Given the description of an element on the screen output the (x, y) to click on. 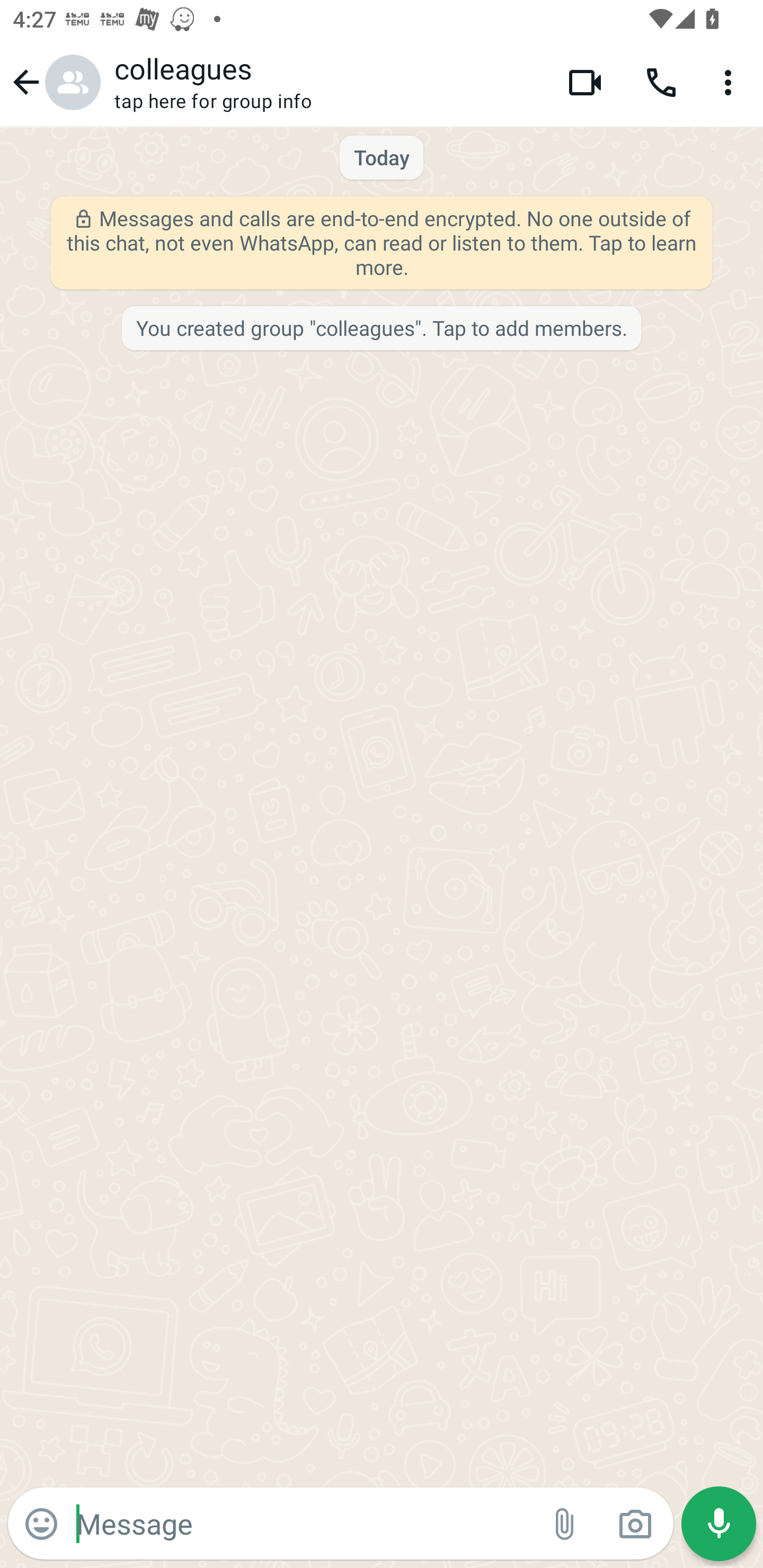
colleagues tap here for group info (327, 82)
Navigate up (54, 82)
Video call (585, 81)
Voice call (661, 81)
More options (731, 81)
Emoji (41, 1523)
Attach (565, 1523)
Camera (634, 1523)
Message (303, 1523)
